Given the description of an element on the screen output the (x, y) to click on. 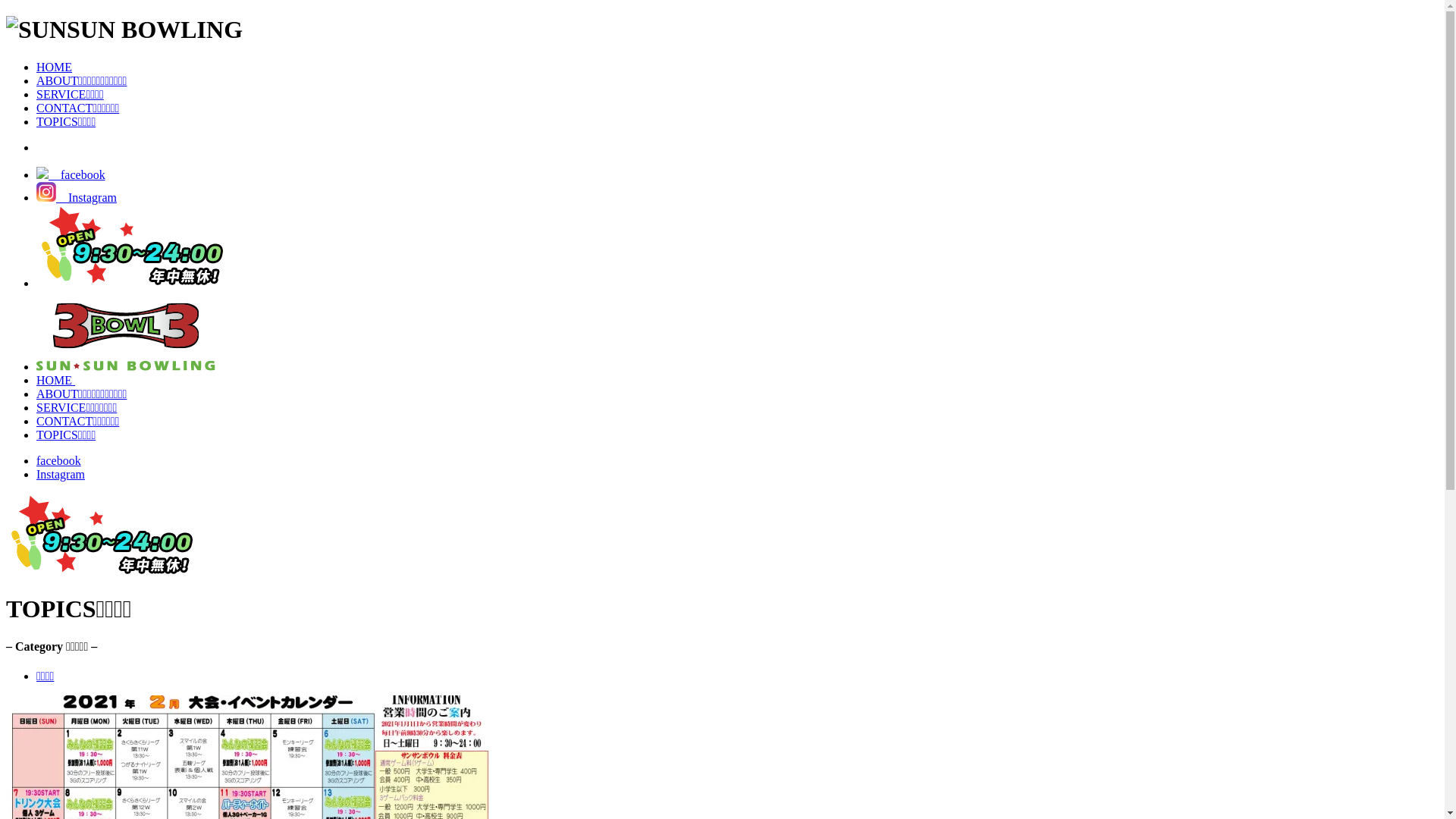
Instagram Element type: text (76, 197)
facebook Element type: text (58, 460)
HOME  Element type: text (55, 379)
HOME Element type: text (54, 66)
facebook Element type: text (70, 174)
Instagram Element type: text (60, 473)
